Given the description of an element on the screen output the (x, y) to click on. 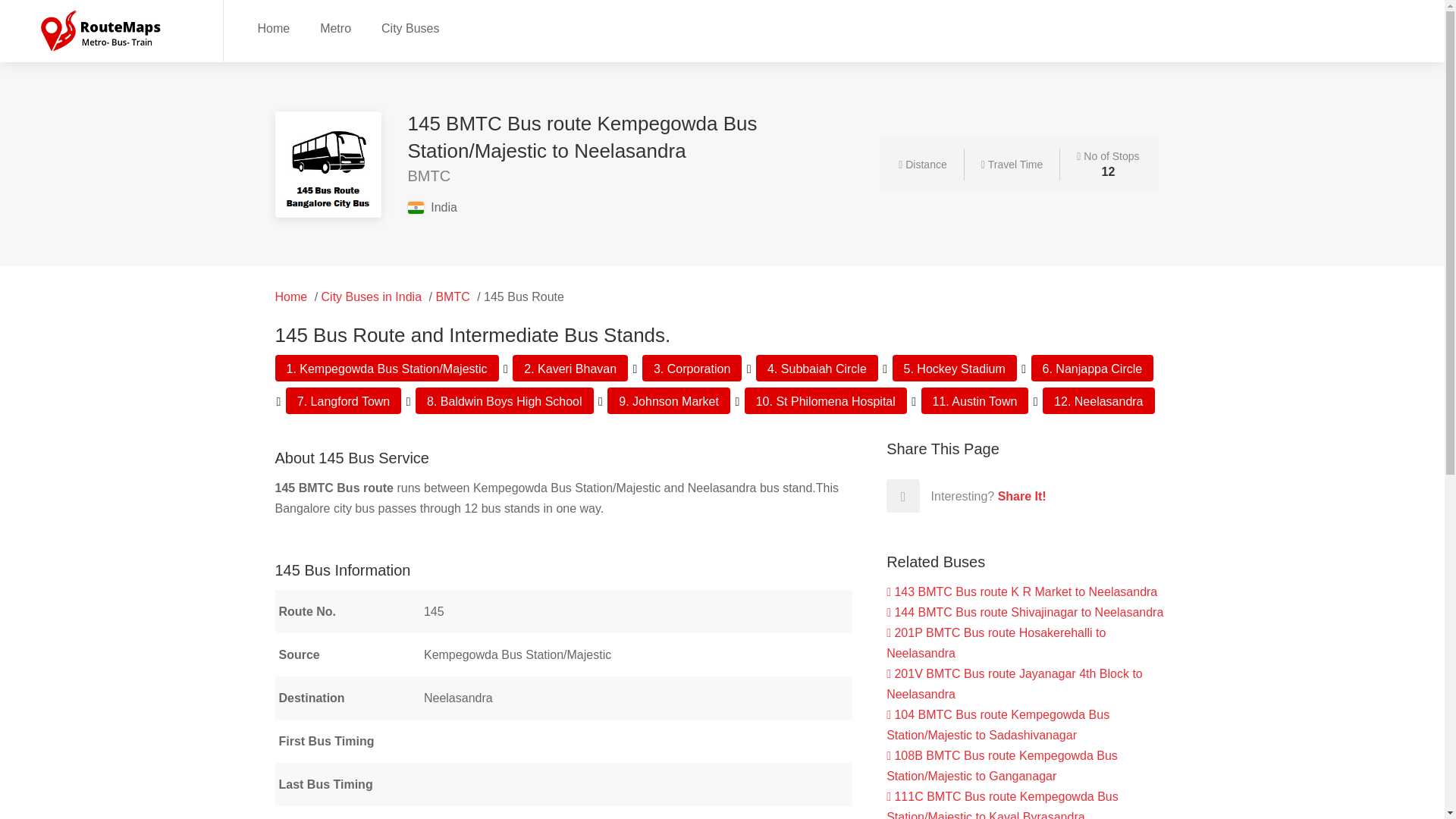
144 BMTC Bus route Shivajinagar to Neelasandra (1024, 612)
Home (273, 28)
Home (291, 296)
201V BMTC Bus route Jayanagar 4th Block to Neelasandra (1014, 684)
City Buses in India (371, 296)
143 BMTC Bus route K R Market to Neelasandra (1021, 591)
201P BMTC Bus route Hosakerehalli to Neelasandra (995, 643)
BMTC (451, 296)
Metro (335, 28)
City Buses (409, 28)
